Given the description of an element on the screen output the (x, y) to click on. 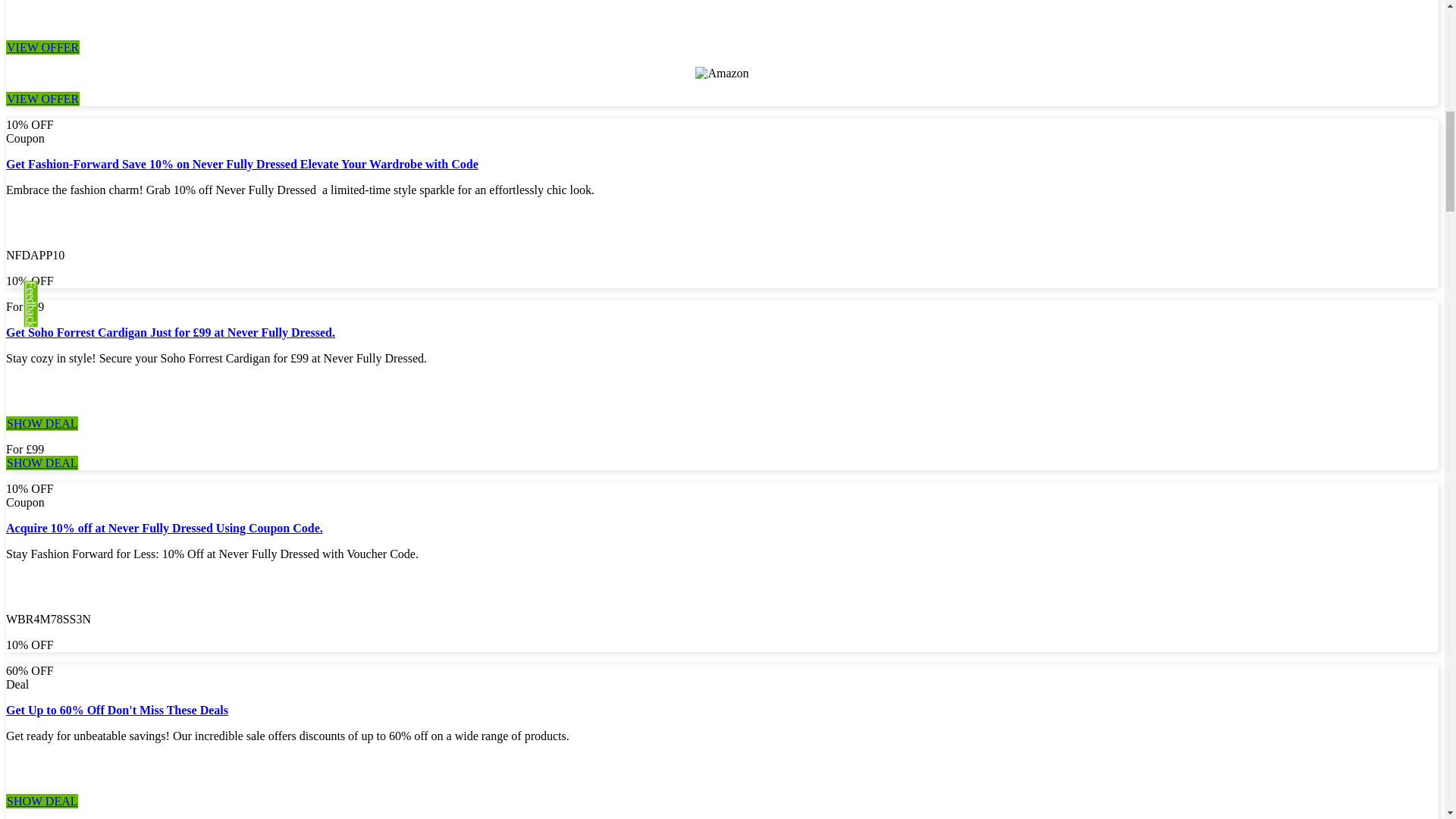
SHOW DEAL (41, 423)
SHOW DEAL (41, 462)
VIEW OFFER (42, 98)
VIEW OFFER (42, 47)
SHOW DEAL (41, 800)
